Given the description of an element on the screen output the (x, y) to click on. 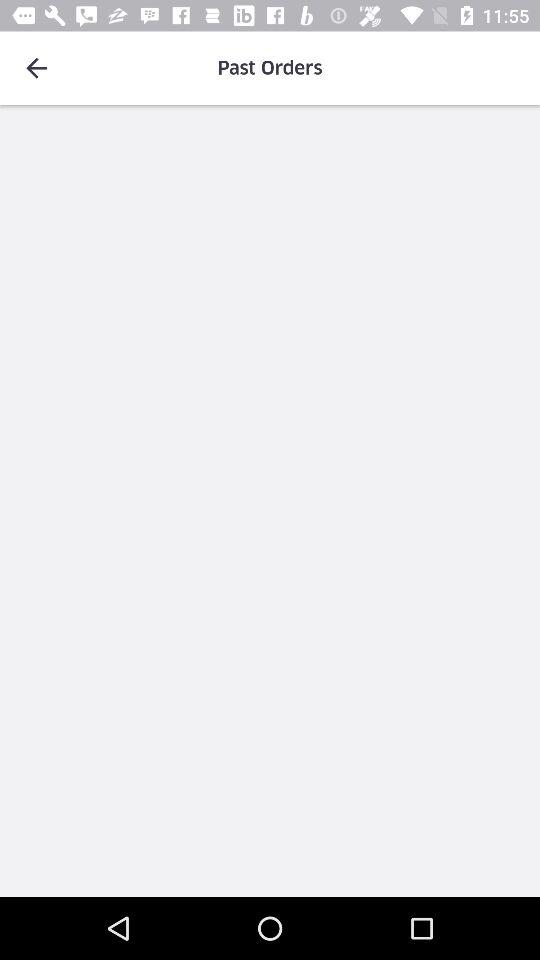
choose item at the top left corner (36, 68)
